Given the description of an element on the screen output the (x, y) to click on. 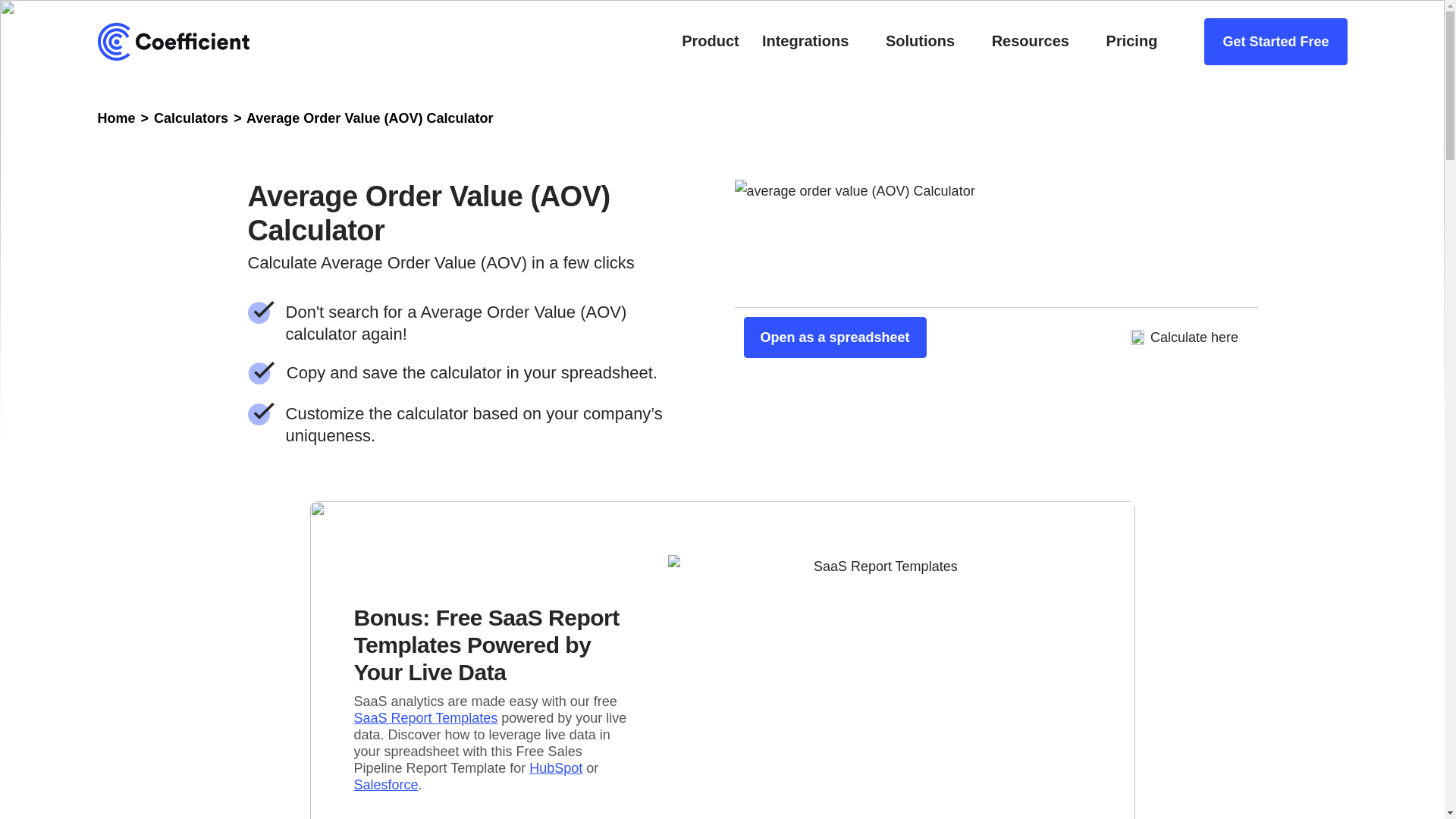
Product (710, 40)
Integrations (804, 40)
Home (116, 118)
Pricing (1131, 40)
SaaS Report Templates (425, 717)
Calculators (191, 118)
Resources (1029, 40)
Get Started Free (1275, 41)
Open as a spreadsheet (834, 336)
HubSpot (555, 767)
